Given the description of an element on the screen output the (x, y) to click on. 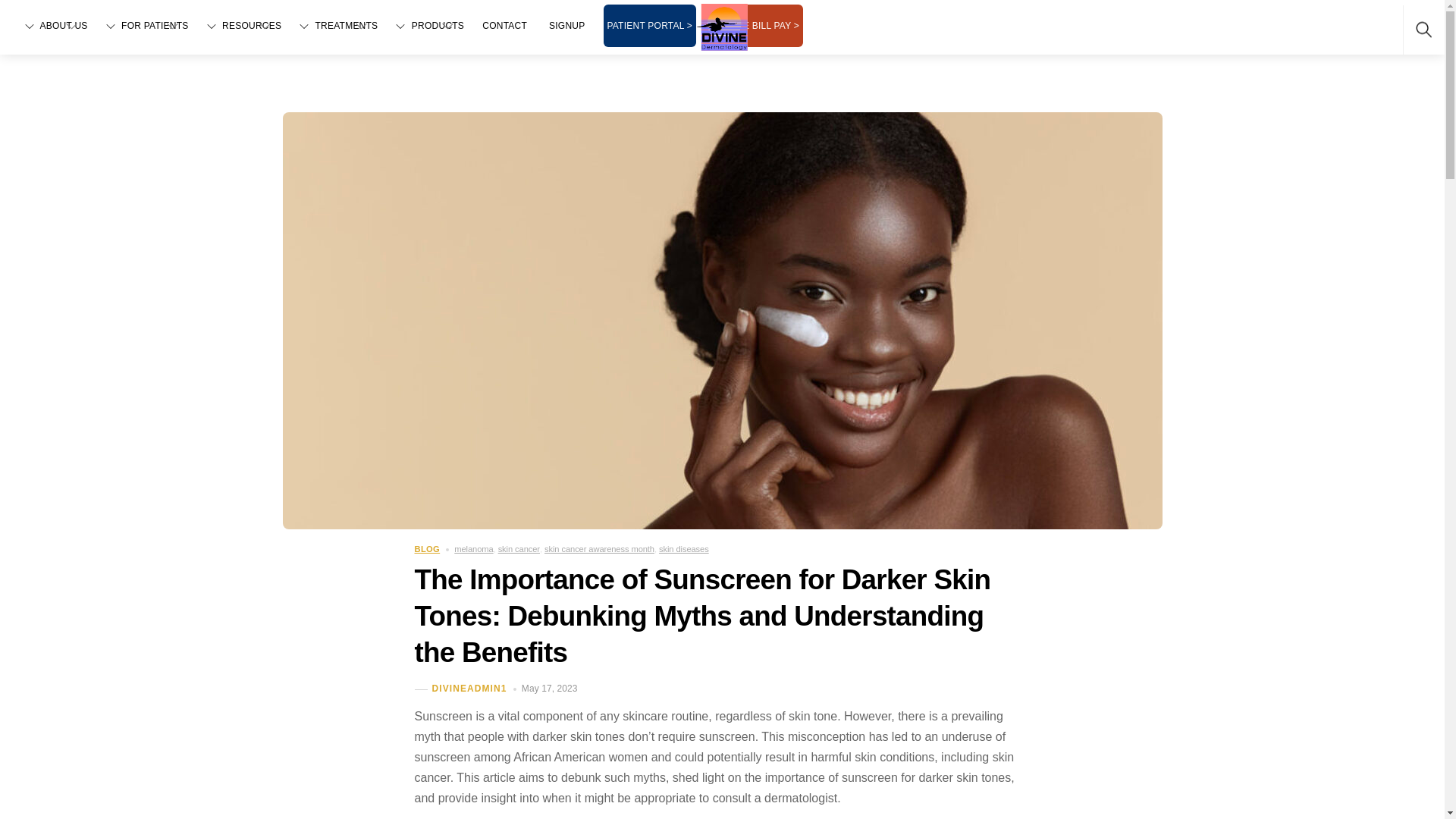
RESOURCES (242, 25)
FOR PATIENTS (145, 25)
PRODUCTS (428, 25)
ABOUT US (54, 25)
TREATMENTS (337, 25)
Divine Dermatology (724, 25)
